Given the description of an element on the screen output the (x, y) to click on. 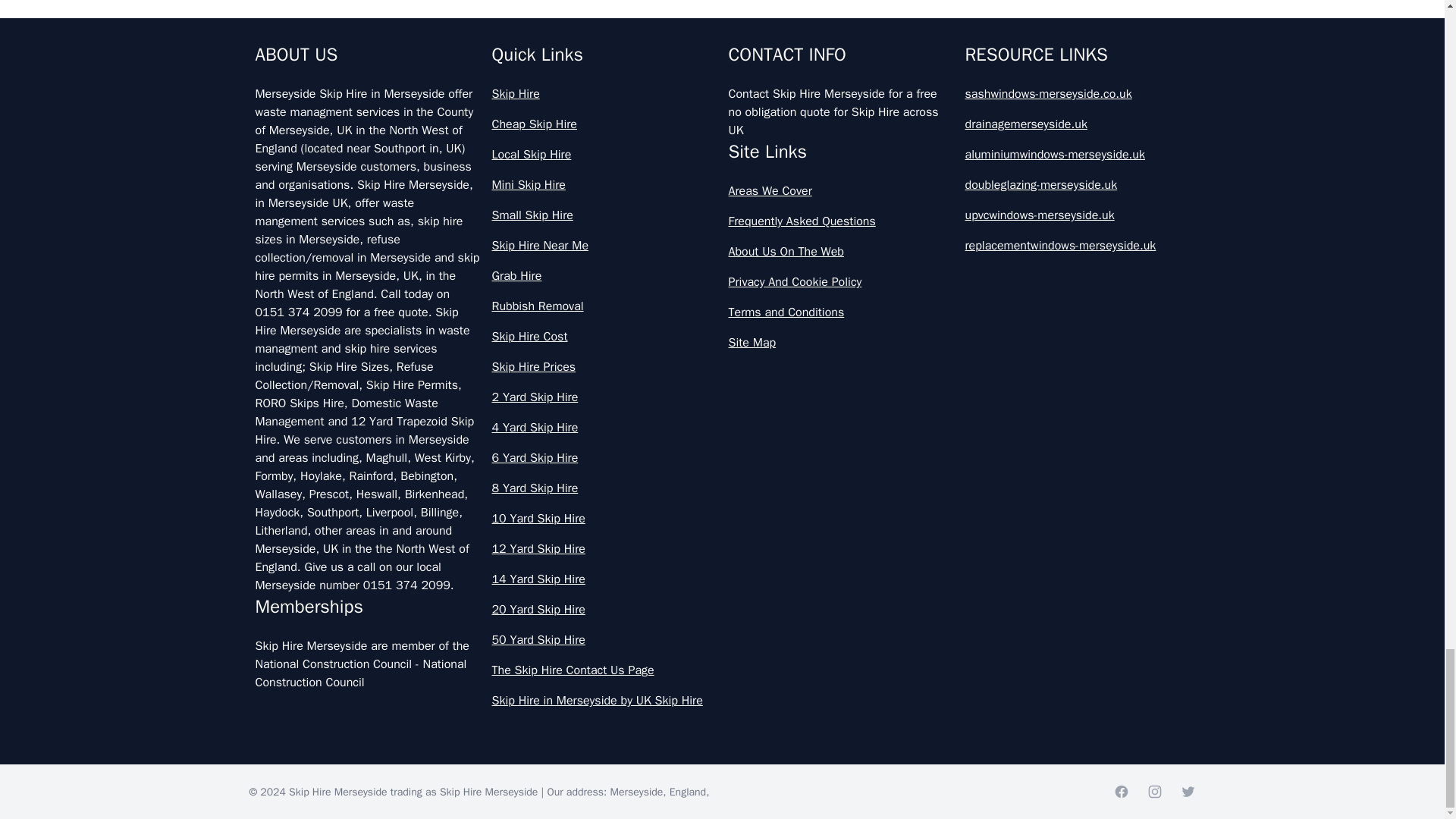
Skip Hire in Merseyside by UK Skip Hire (604, 700)
upvcwindows-merseyside.uk (1076, 215)
sashwindows-merseyside.co.uk (1076, 94)
doubleglazing-merseyside.uk (1076, 185)
Is Grab Hire Cheaper Than A Skip In Merseyside (722, 18)
Site Map (840, 342)
drainagemerseyside.uk (1076, 124)
What Is Grab Hire In Merseyside (722, 80)
aluminiumwindows-merseyside.uk (1076, 154)
replacementwindows-merseyside.uk (1076, 245)
